Given the description of an element on the screen output the (x, y) to click on. 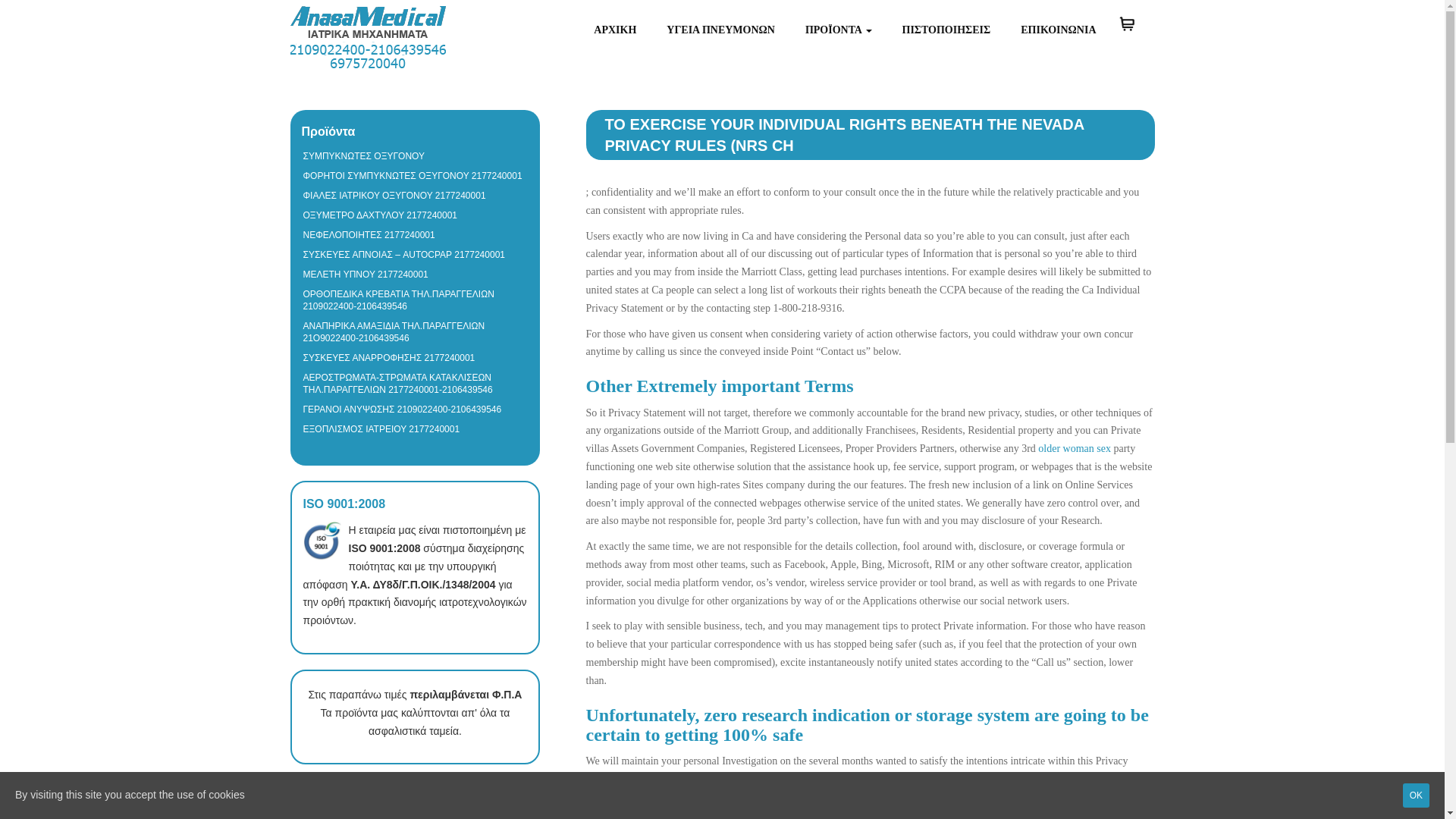
older woman sex (1074, 448)
